Given the description of an element on the screen output the (x, y) to click on. 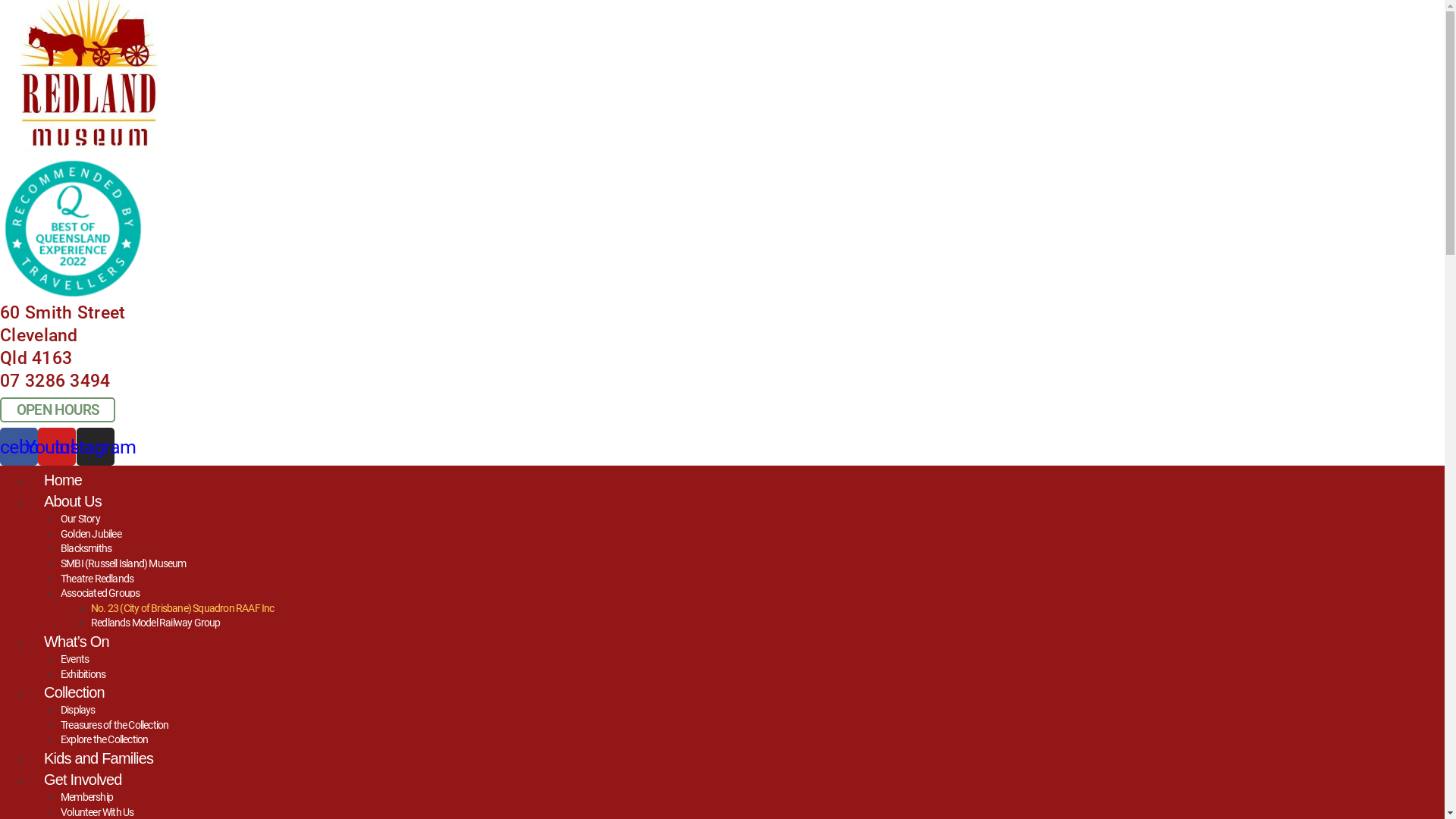
Blacksmiths Element type: text (85, 547)
Displays Element type: text (77, 709)
Theatre Redlands Element type: text (96, 578)
No. 23 (City of Brisbane) Squadron RAAF Inc Element type: text (182, 607)
Youtube Element type: text (56, 446)
Our Story Element type: text (80, 518)
Exhibitions Element type: text (82, 673)
Redlands Model Railway Group Element type: text (155, 622)
Get Involved Element type: text (82, 779)
SMBI (Russell Island) Museum Element type: text (123, 563)
Golden Jubilee Element type: text (90, 533)
Facebook Element type: text (18, 446)
OPEN HOURS Element type: text (57, 409)
About Us Element type: text (72, 500)
Kids and Families Element type: text (98, 757)
Instagram Element type: text (95, 446)
Explore the Collection Element type: text (103, 738)
Best of Qld logo Element type: hover (73, 228)
Events Element type: text (74, 658)
Collection Element type: text (74, 691)
Membership Element type: text (86, 796)
Home Element type: text (62, 479)
Associated Groups Element type: text (99, 592)
AAA_RM Vector Logo_no Tagline_Reduced Element type: hover (88, 75)
Treasures of the Collection Element type: text (114, 724)
